Given the description of an element on the screen output the (x, y) to click on. 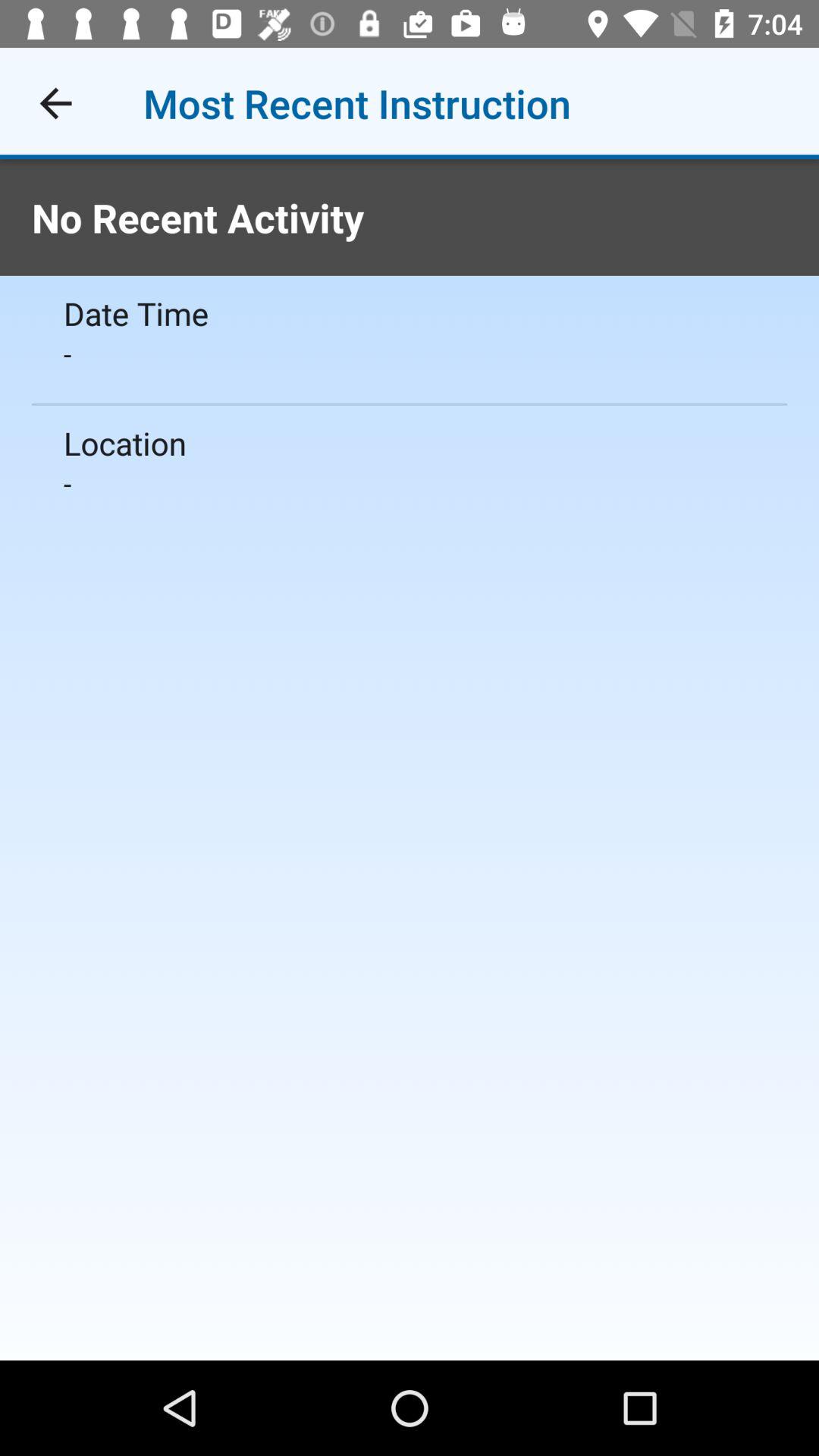
launch the item below the date time icon (409, 353)
